Given the description of an element on the screen output the (x, y) to click on. 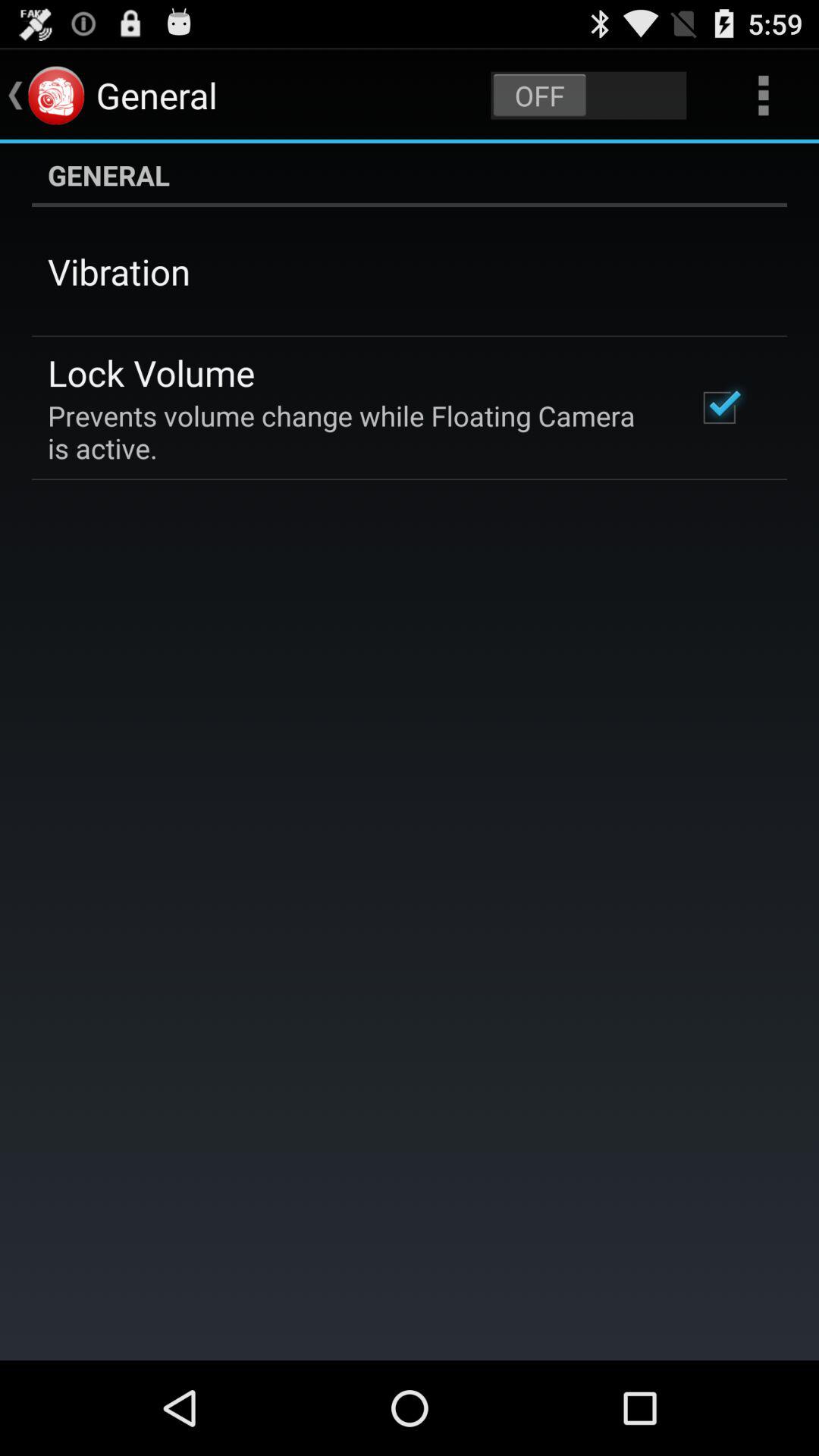
select app above lock volume (118, 271)
